Given the description of an element on the screen output the (x, y) to click on. 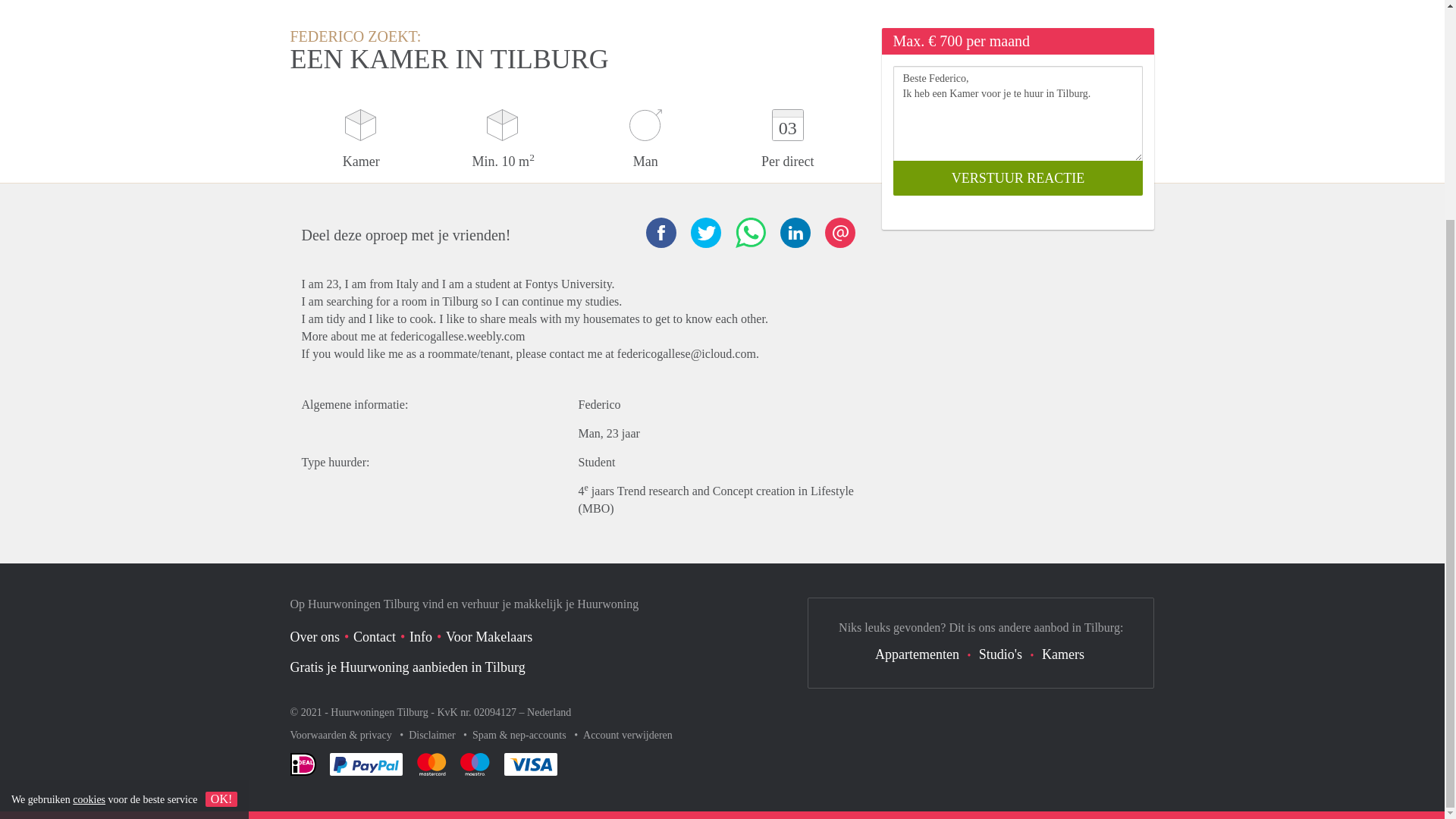
VERSTUUR REACTIE (1017, 177)
Studio's (1000, 654)
Appartementen (917, 654)
Over ons (314, 636)
VERSTUUR REACTIE (1017, 177)
Deel deze oproep via LinkedIn (793, 232)
Deel deze oproep via E-mail (840, 232)
Disclaimer (433, 735)
Kamers (1063, 654)
Info (420, 636)
Deel deze oproep via Whatsapp (750, 232)
Contact (374, 636)
OK! (221, 508)
Voor Makelaars (488, 636)
Account verwijderen (627, 735)
